Given the description of an element on the screen output the (x, y) to click on. 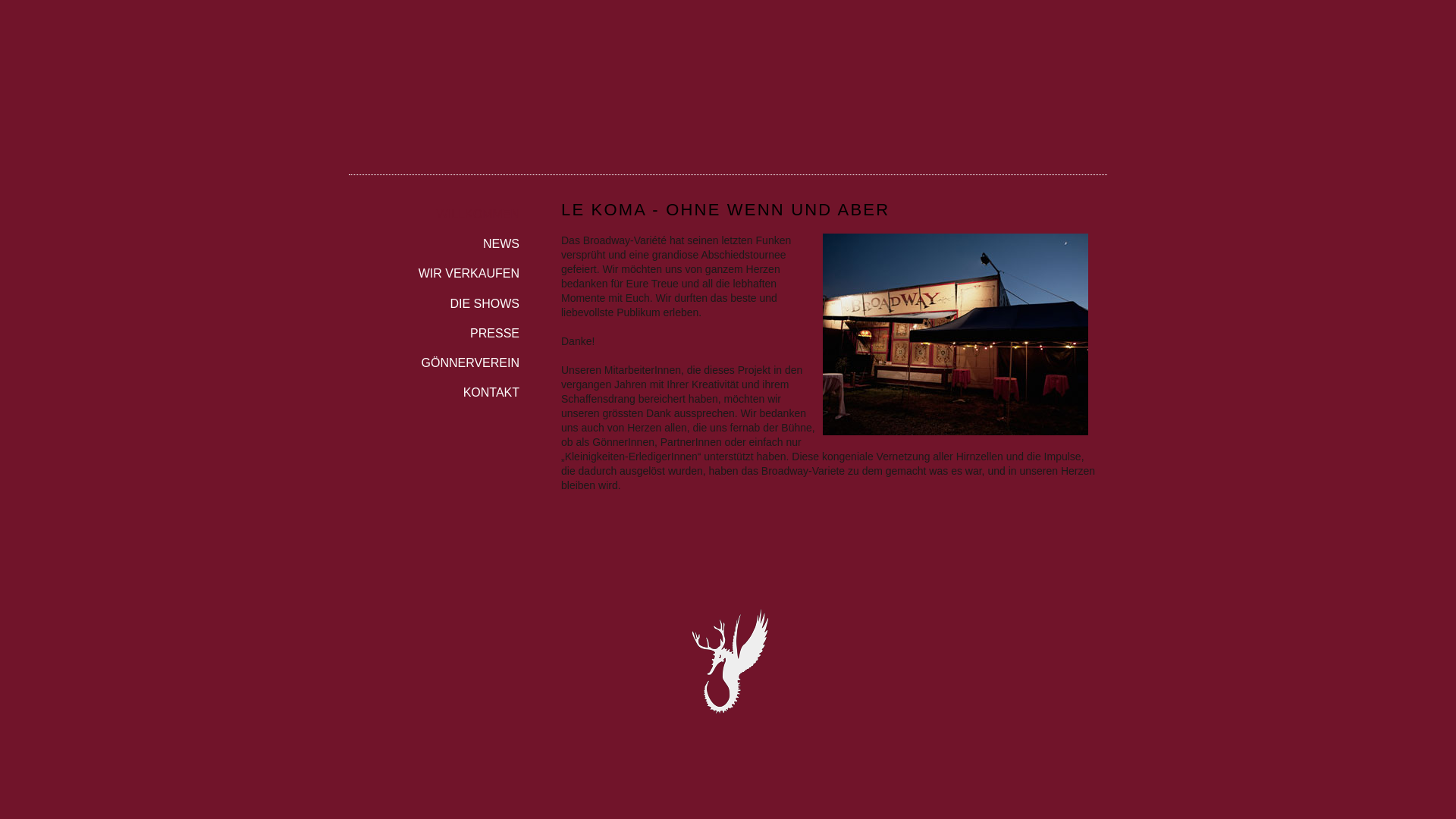
DIE SHOWS Element type: text (433, 298)
WIR VERKAUFEN Element type: text (433, 268)
NEWS Element type: text (433, 239)
KONTAKT Element type: text (433, 387)
PRESSE Element type: text (433, 328)
WILLKOMMEN Element type: text (433, 209)
